Given the description of an element on the screen output the (x, y) to click on. 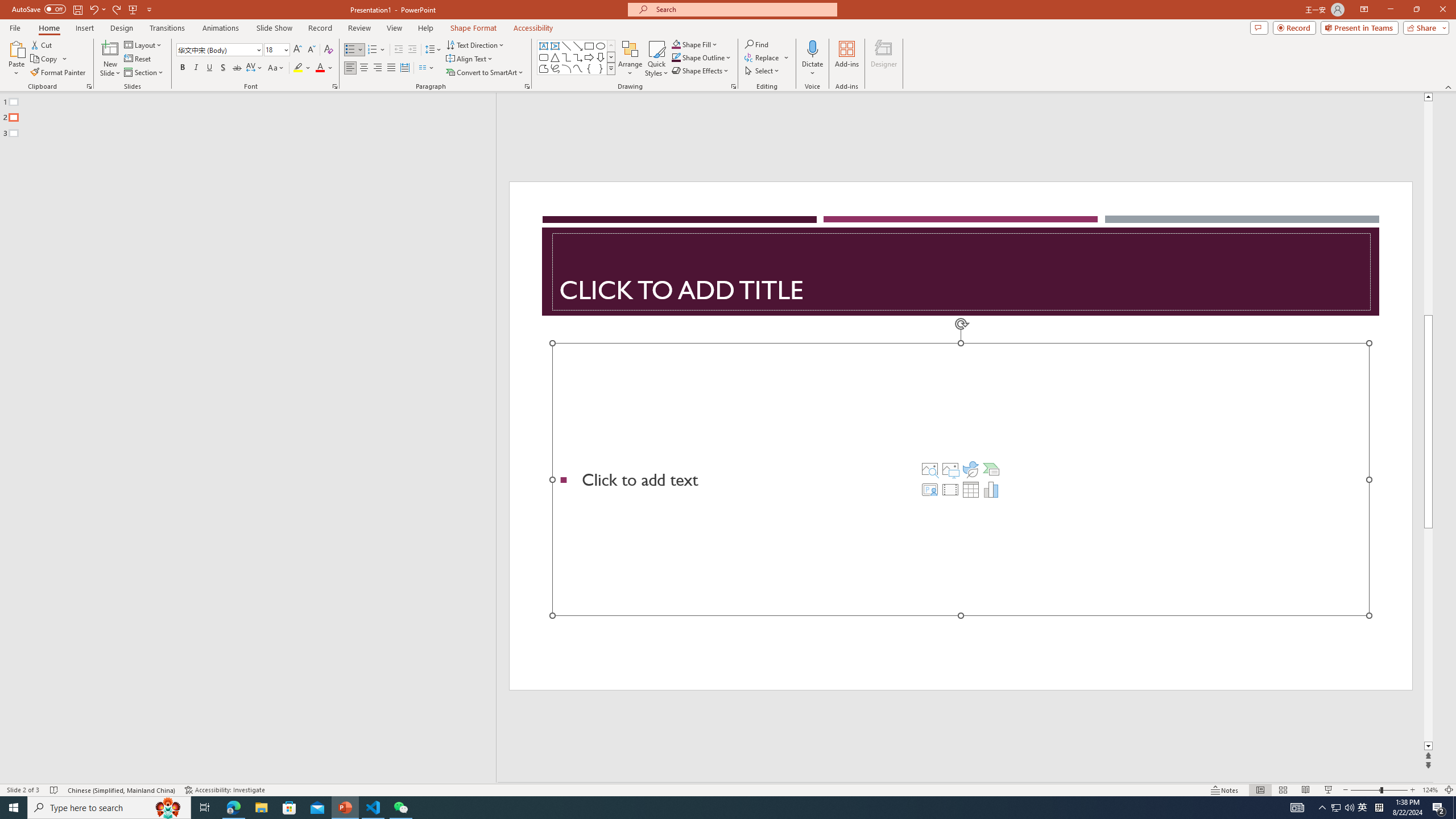
Insert an Icon (970, 469)
